Given the description of an element on the screen output the (x, y) to click on. 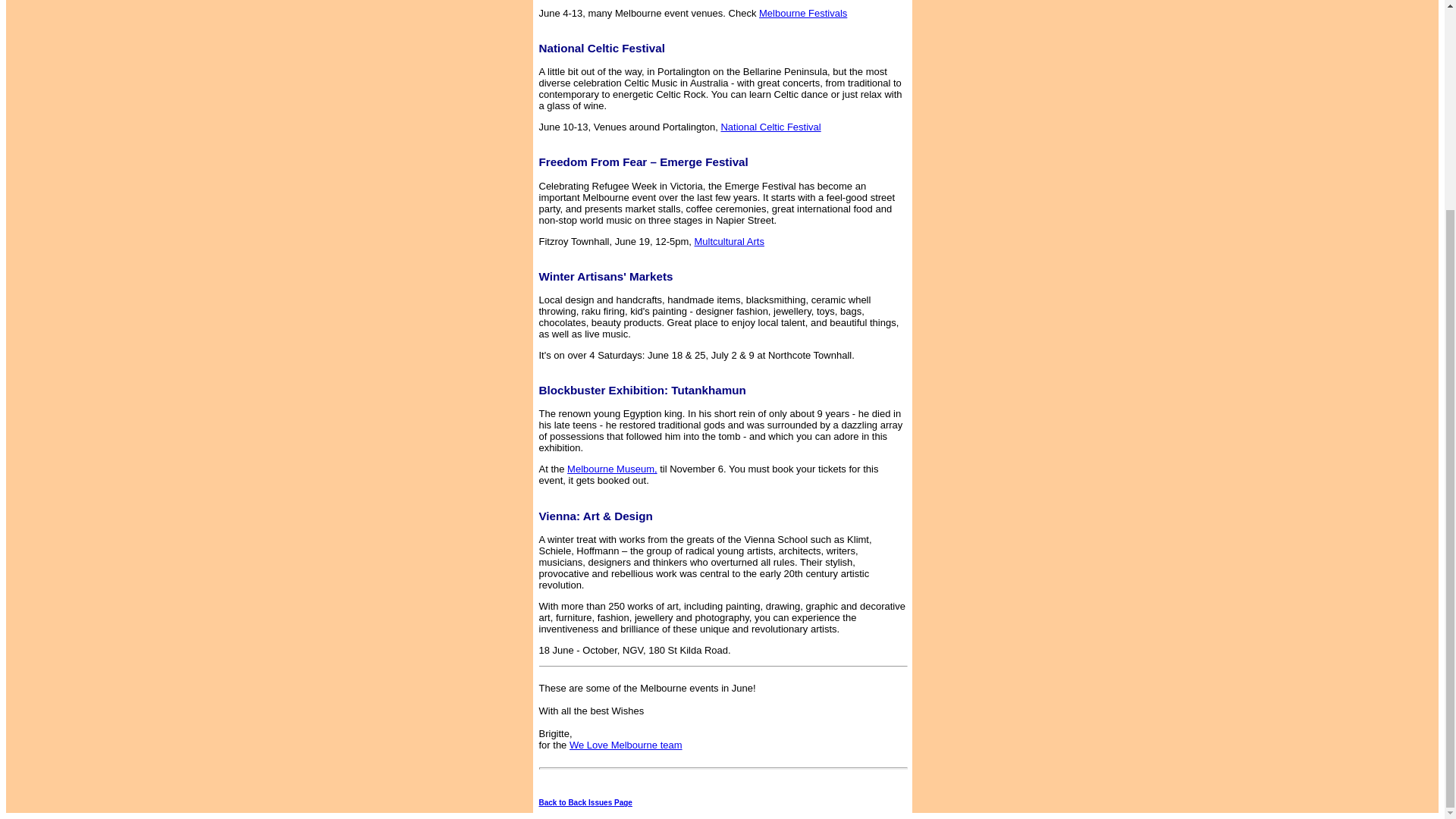
National Celtic Festival (861, 132)
Melbourne Museum, (612, 469)
Back to Back Issues Page (584, 802)
Multcultural Arts (806, 246)
We Love Melbourne team (641, 750)
Melbourne Festivals (912, 18)
